Given the description of an element on the screen output the (x, y) to click on. 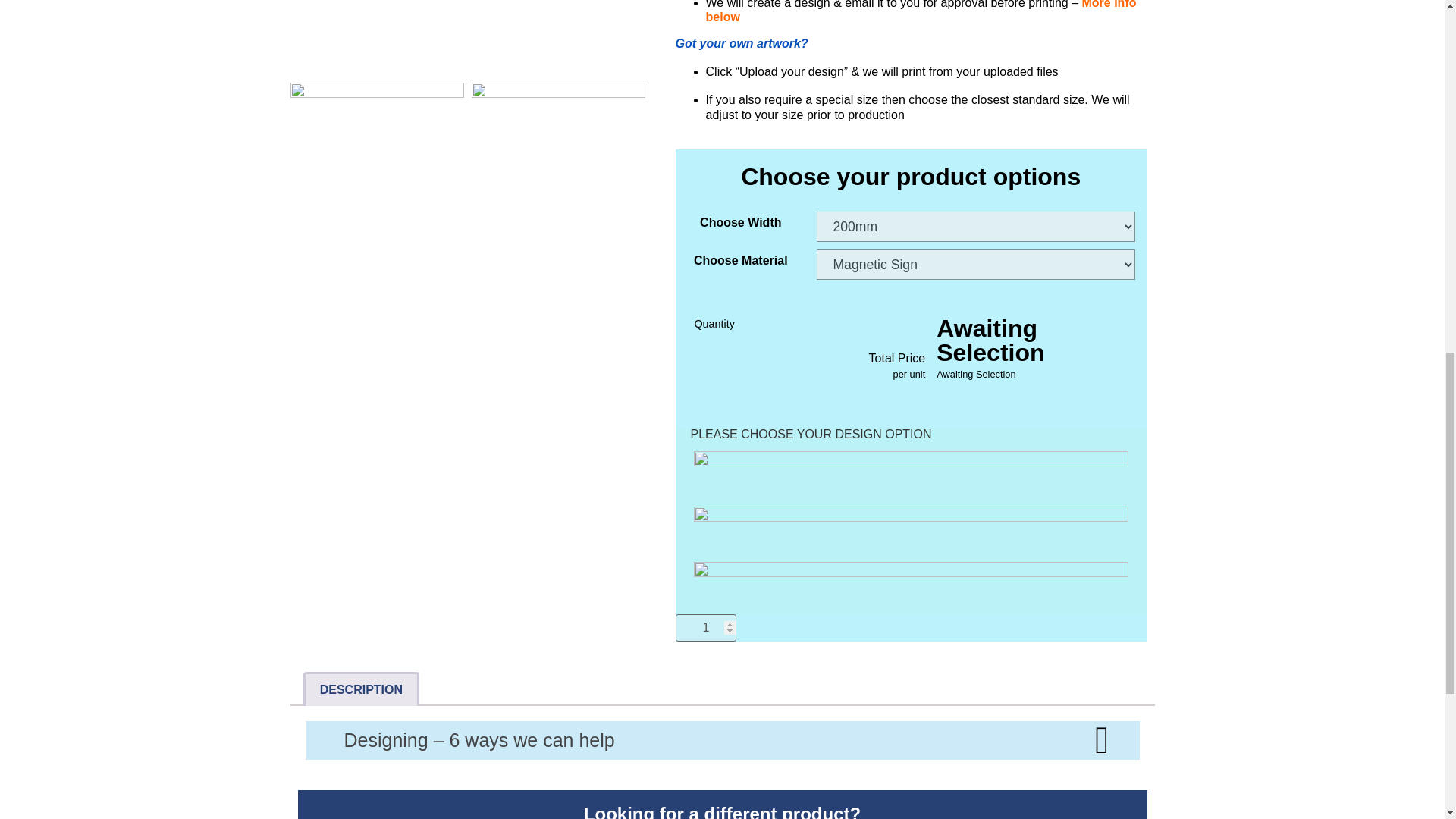
SND--L (376, 169)
SND--K (558, 37)
SND--J (376, 37)
1 (705, 627)
